Given the description of an element on the screen output the (x, y) to click on. 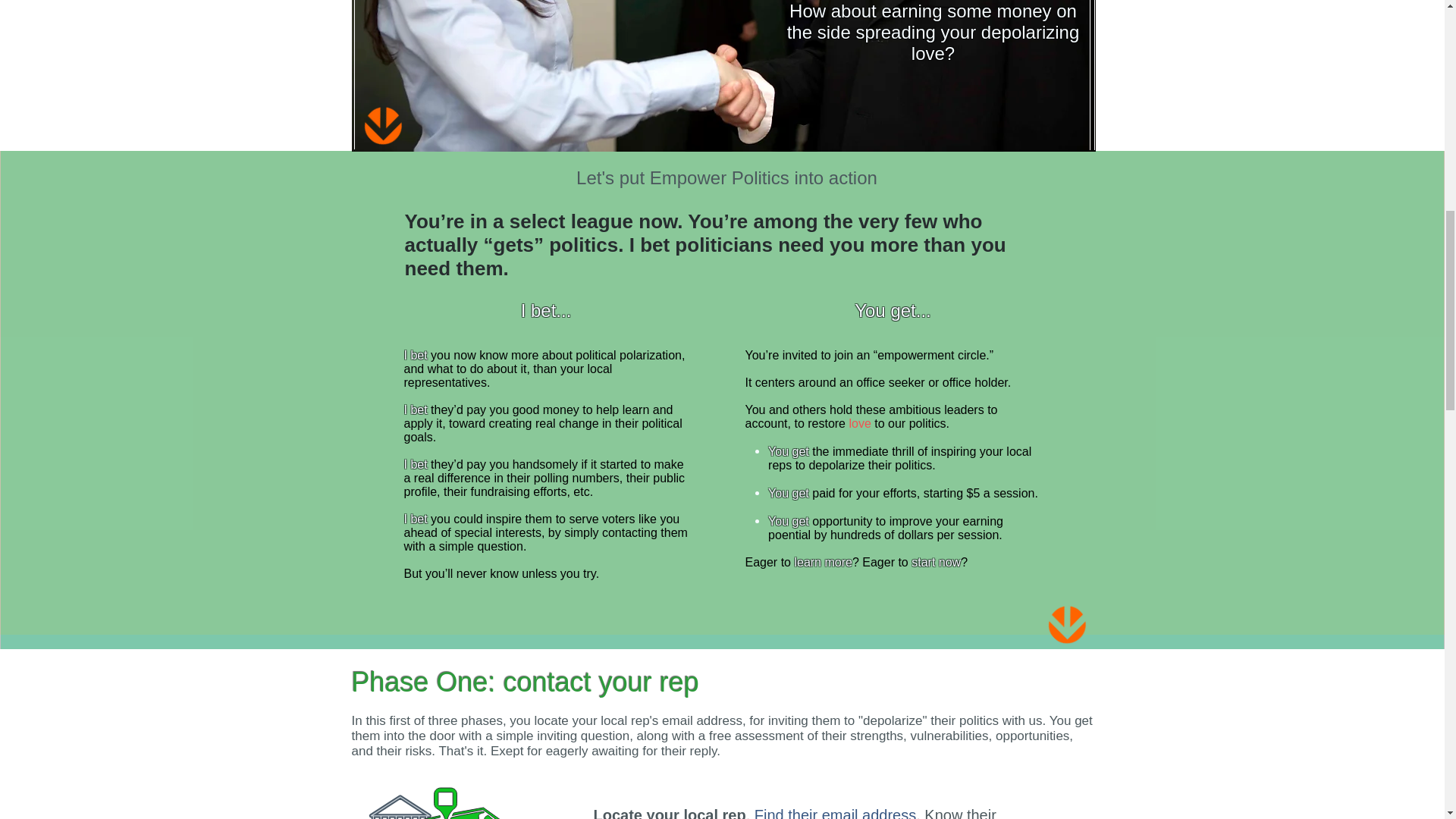
Find their email address (834, 812)
